Given the description of an element on the screen output the (x, y) to click on. 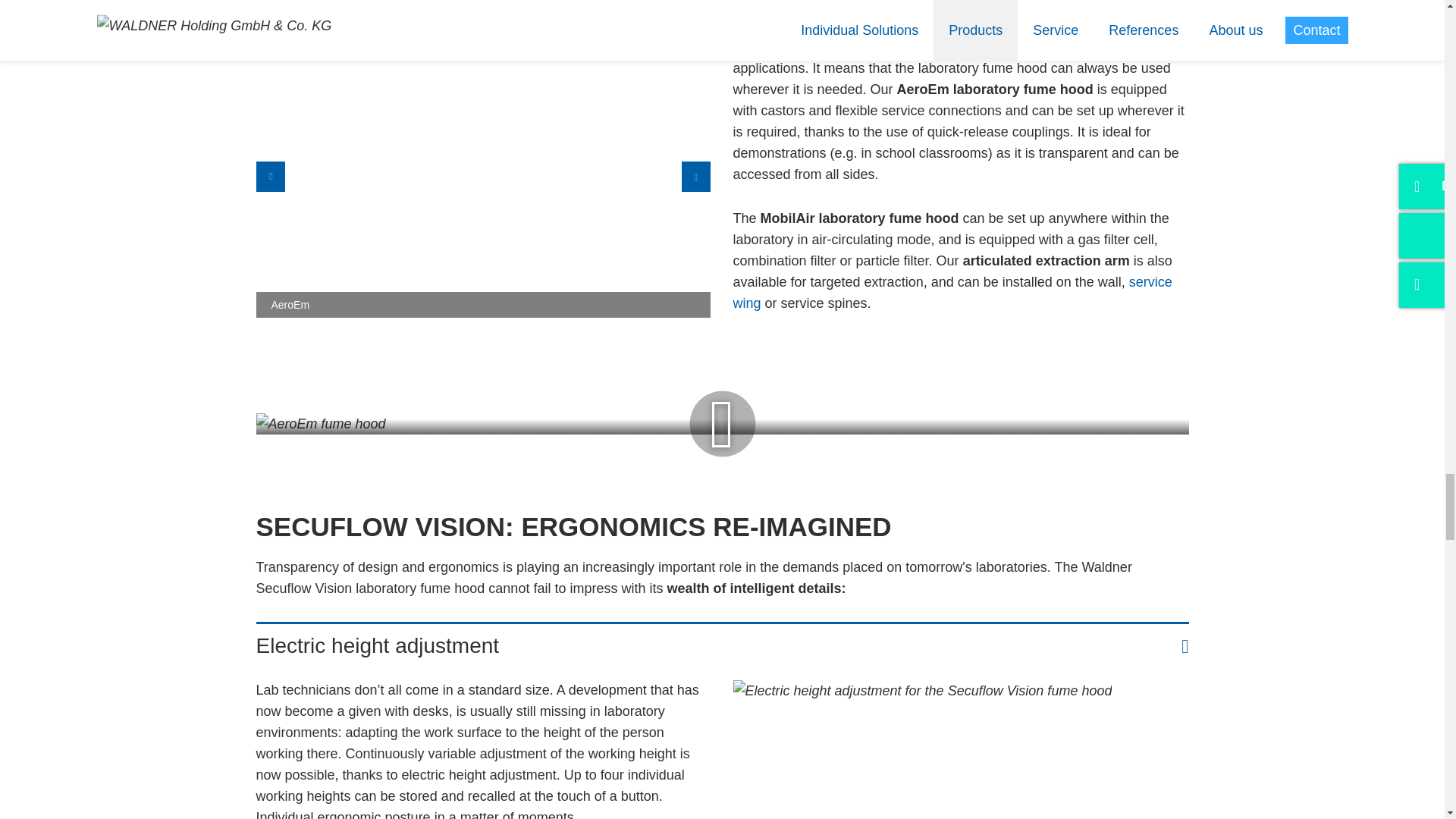
AeroEm (483, 176)
MobilAir (936, 176)
